Given the description of an element on the screen output the (x, y) to click on. 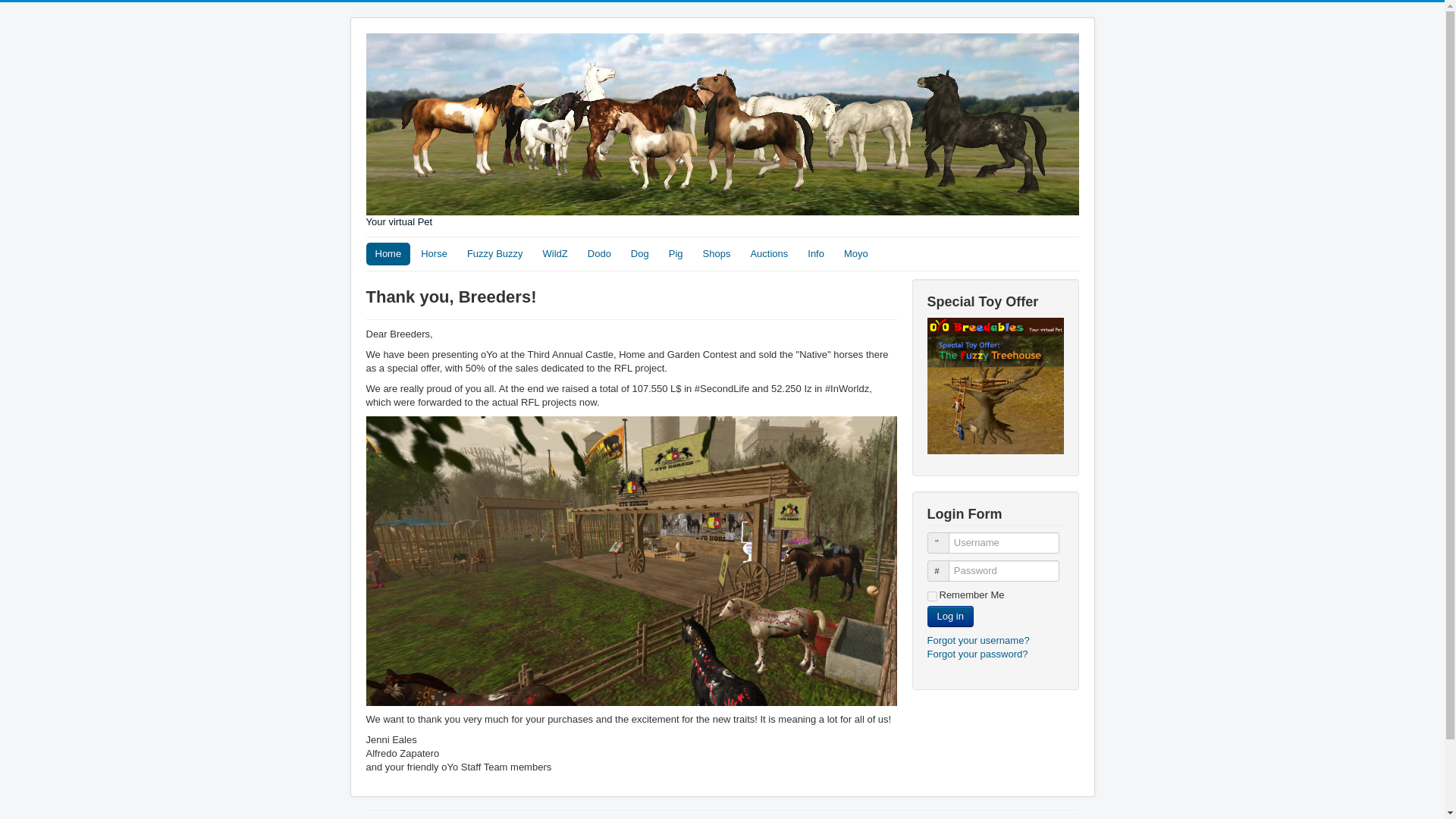
Fuzzy Buzzy (495, 253)
Shops (716, 253)
Home (387, 253)
Info (814, 253)
WildZ (555, 253)
Horse (434, 253)
Dog (639, 253)
Dodo (599, 253)
Auctions (768, 253)
Pig (676, 253)
yes (931, 596)
